Given the description of an element on the screen output the (x, y) to click on. 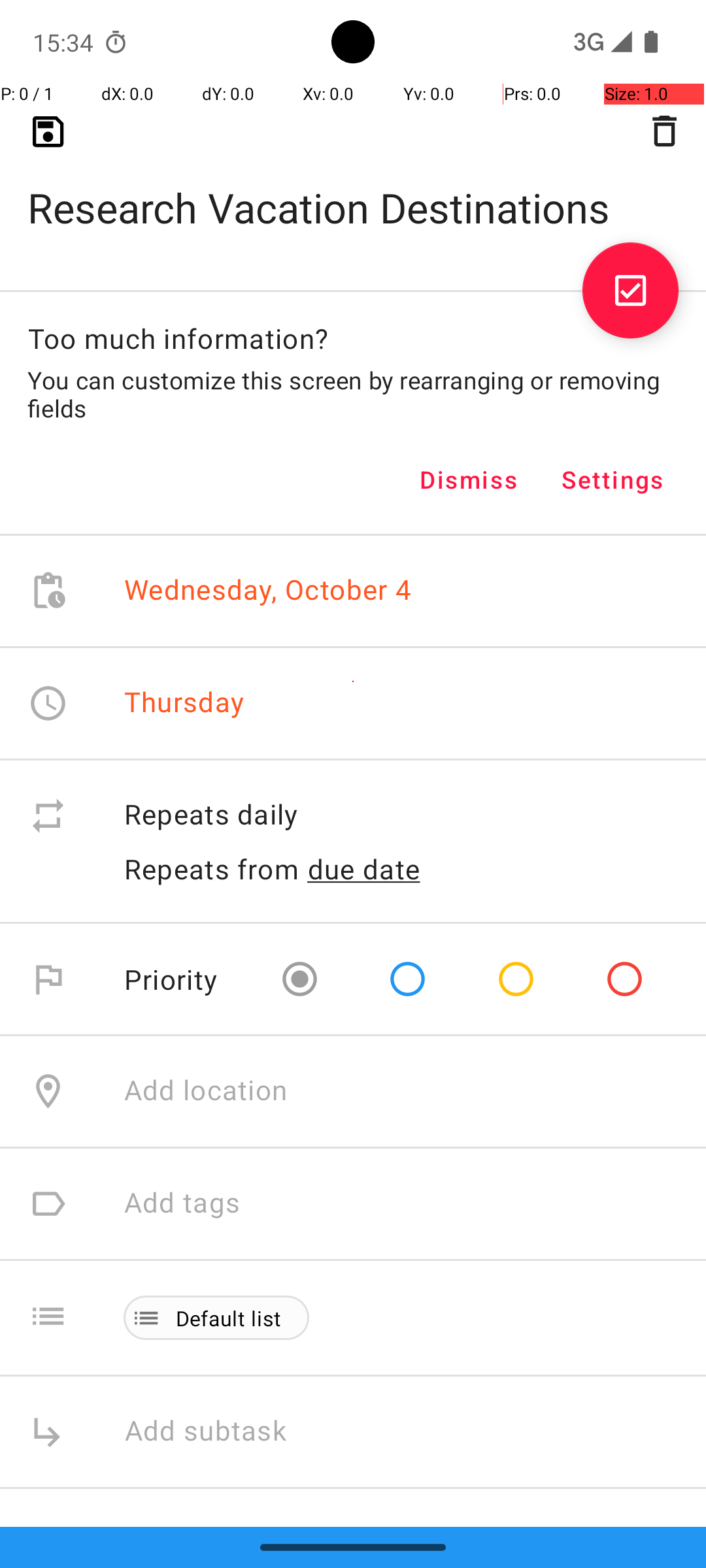
Repeats daily Element type: android.widget.TextView (400, 815)
Repeats from Element type: android.widget.TextView (211, 868)
due date Element type: android.widget.TextView (363, 868)
